Given the description of an element on the screen output the (x, y) to click on. 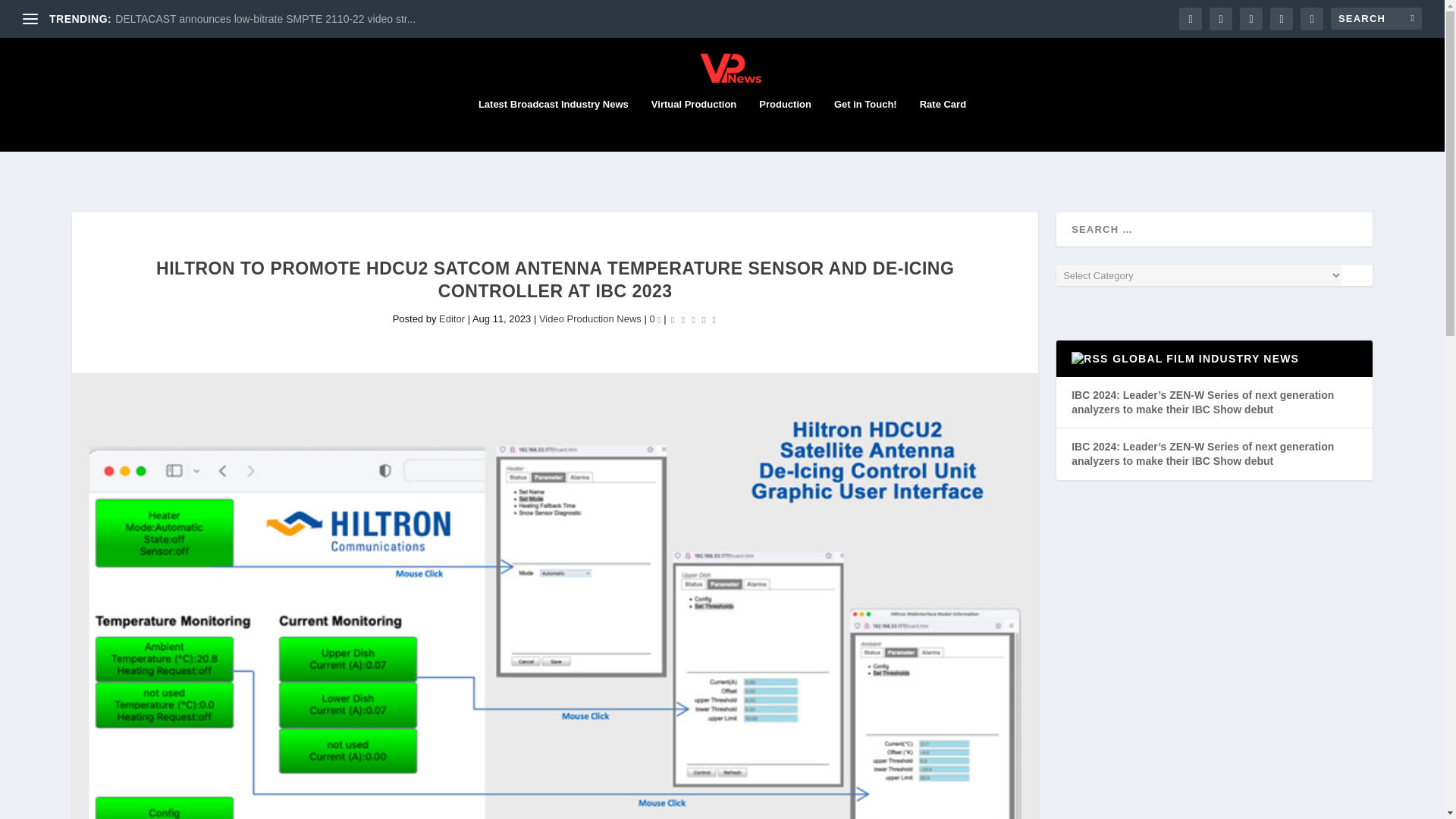
Production (784, 124)
Rating: 0.00 (692, 319)
DELTACAST announces low-bitrate SMPTE 2110-22 video str... (264, 19)
Posts by Editor (451, 318)
Get in Touch! (865, 124)
Video Production News (590, 318)
Latest Broadcast Industry News (553, 124)
Search for: (1376, 18)
Editor (451, 318)
Virtual Production (693, 124)
